Given the description of an element on the screen output the (x, y) to click on. 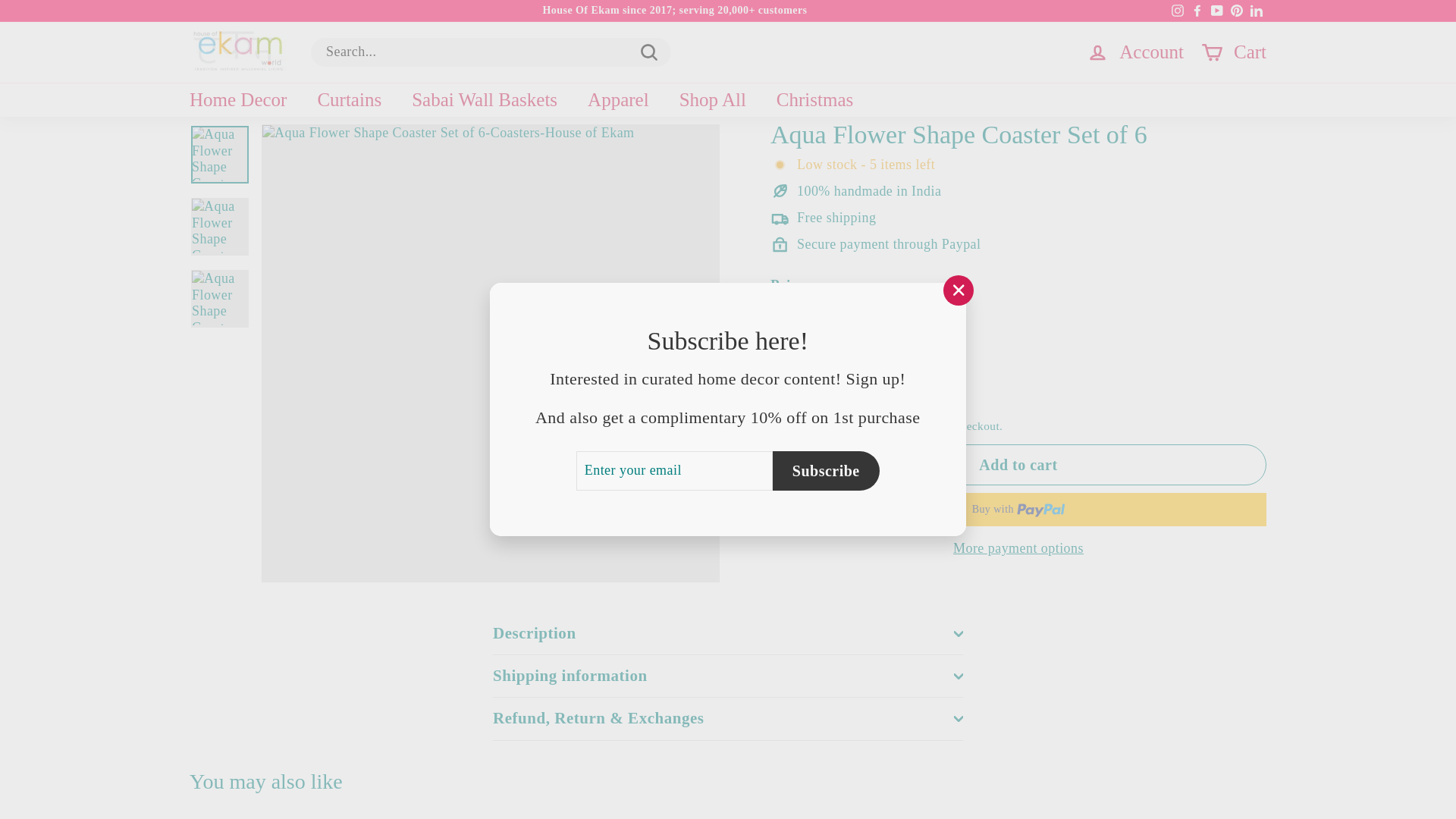
House of Ekam on Facebook (1197, 10)
Facebook (1197, 10)
1 (797, 383)
Instagram (1177, 10)
House of Ekam on Instagram (1177, 10)
YouTube (1217, 10)
LinkedIn (1256, 10)
House of Ekam on YouTube (1217, 10)
House of Ekam on LinkedIn (1256, 10)
Sabai Wall Baskets (484, 99)
Apparel (617, 99)
Pinterest (1236, 10)
Home Decor (237, 99)
Curtains (348, 99)
